Given the description of an element on the screen output the (x, y) to click on. 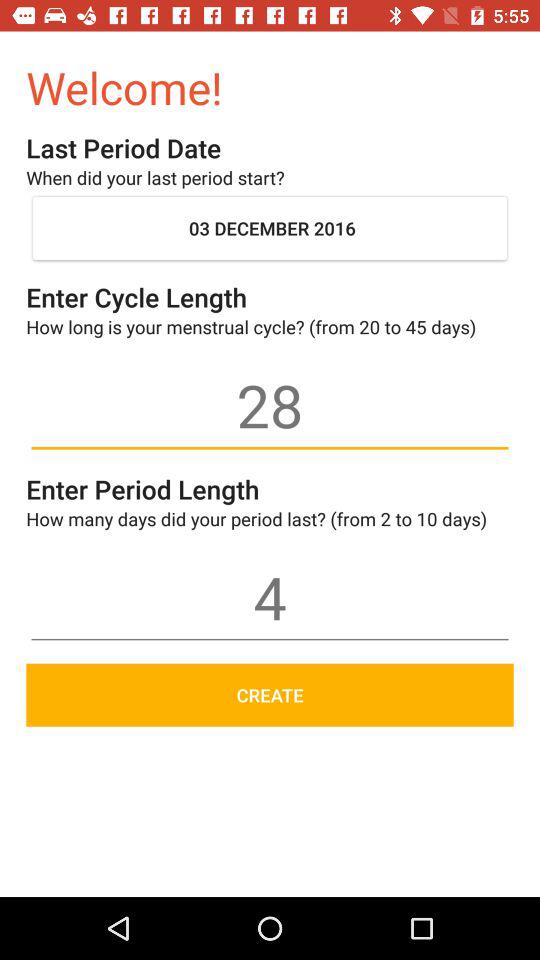
click the icon above enter period length item (269, 405)
